Given the description of an element on the screen output the (x, y) to click on. 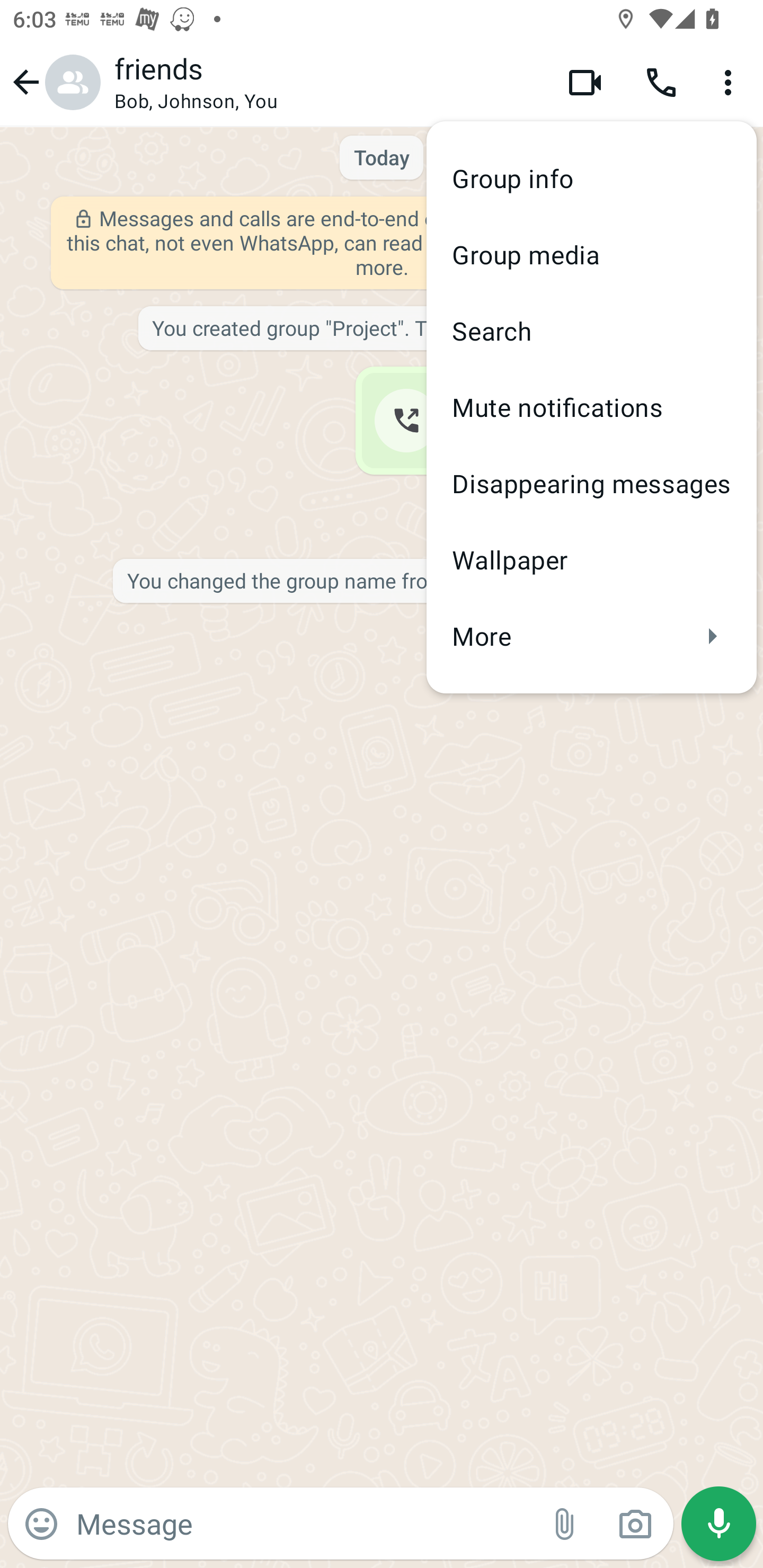
Group info (591, 178)
Group media (591, 254)
Search (591, 330)
Mute notifications (591, 406)
Disappearing messages (591, 483)
Wallpaper (591, 559)
More (591, 635)
